Given the description of an element on the screen output the (x, y) to click on. 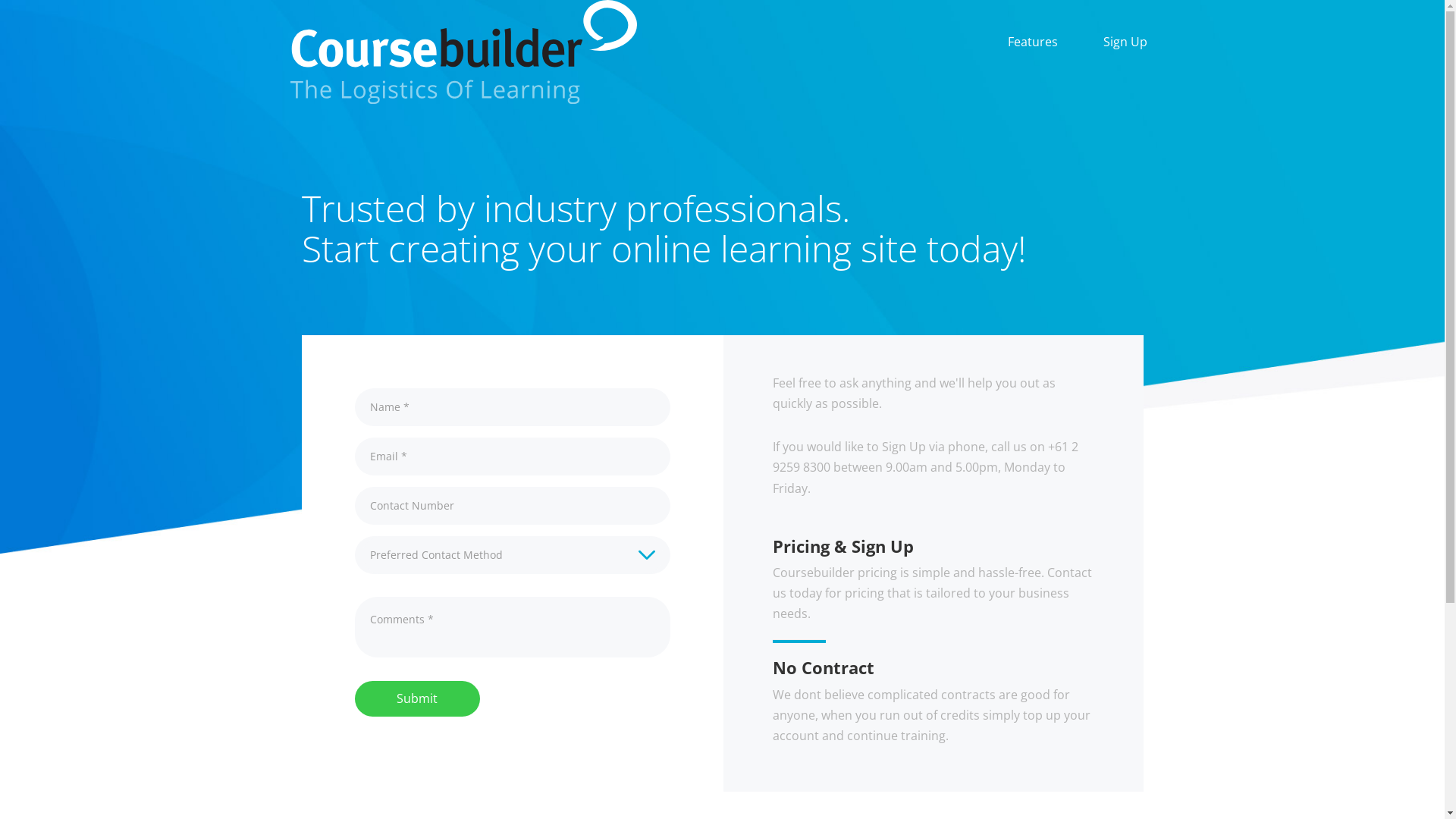
Submit Element type: text (417, 698)
Sign Up Element type: text (1124, 41)
Features Element type: text (1032, 41)
+61 2 9259 8300 Element type: text (925, 456)
